Given the description of an element on the screen output the (x, y) to click on. 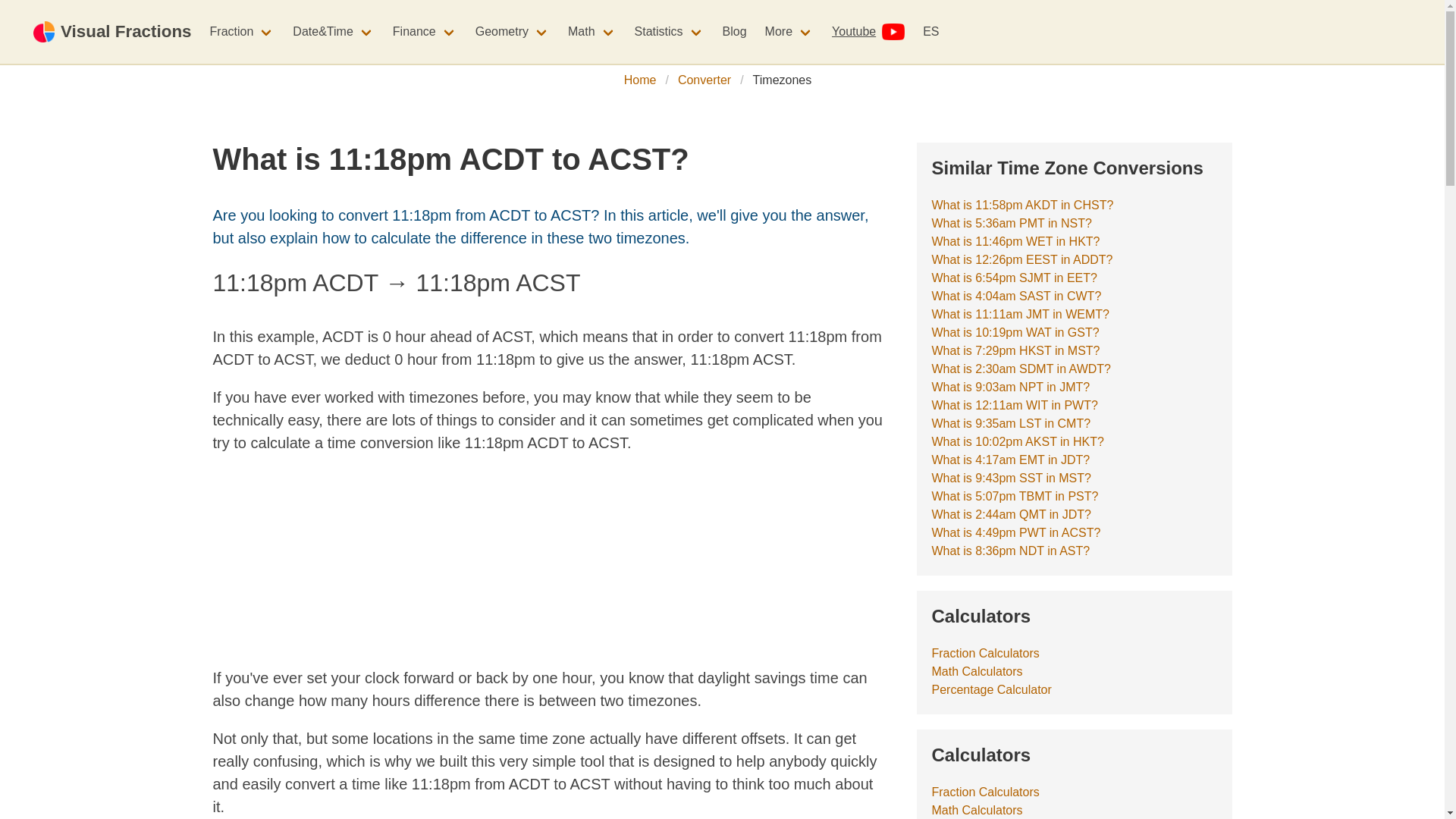
Visual Fractions (112, 31)
Finance (424, 31)
Math (592, 31)
Fraction (241, 31)
Geometry (512, 31)
